Given the description of an element on the screen output the (x, y) to click on. 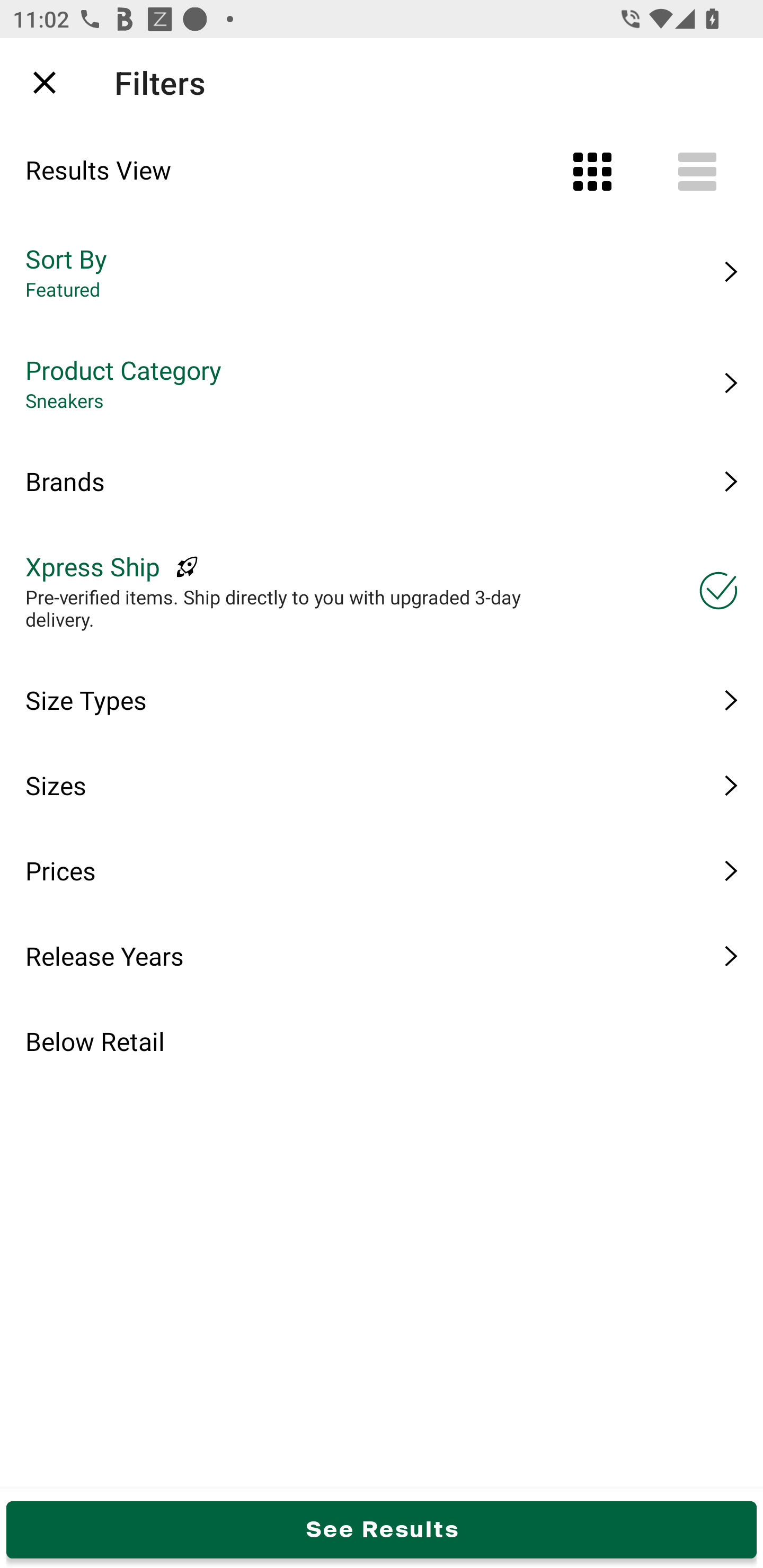
flats (370, 82)
Grid View (591, 171)
List View (697, 171)
Sort By Featured Next (381, 271)
Product Category Sneakers Next (381, 383)
Brands Next (381, 481)
Size Types Next (381, 699)
Sizes Next (381, 785)
Prices Next (381, 869)
Release Years Next (381, 955)
Below Retail (381, 1040)
See Results (381, 1529)
